Given the description of an element on the screen output the (x, y) to click on. 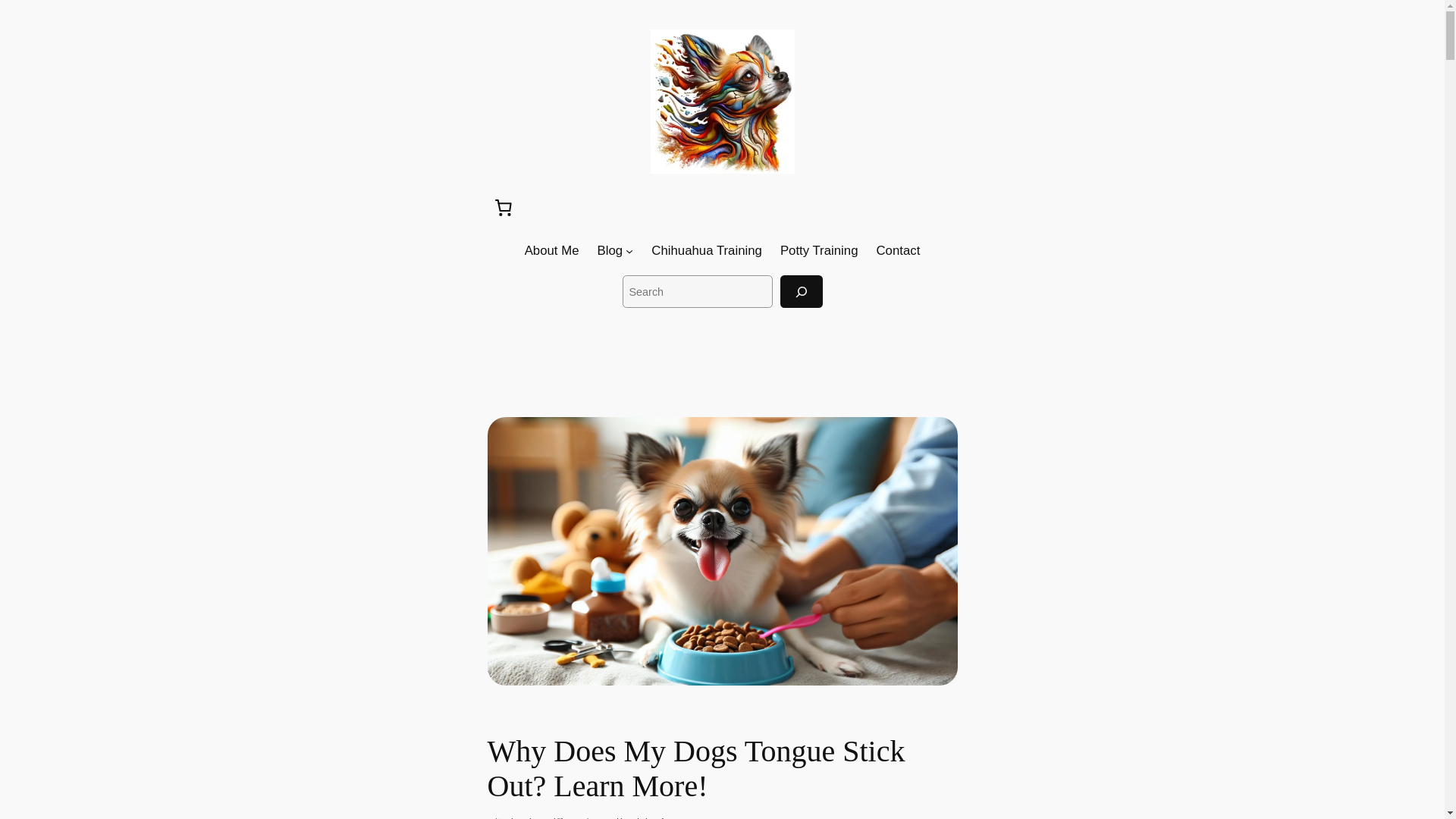
Potty Training (819, 250)
Contact (898, 250)
About Me (551, 250)
Blog (609, 250)
Chihuahua Training (705, 250)
